Given the description of an element on the screen output the (x, y) to click on. 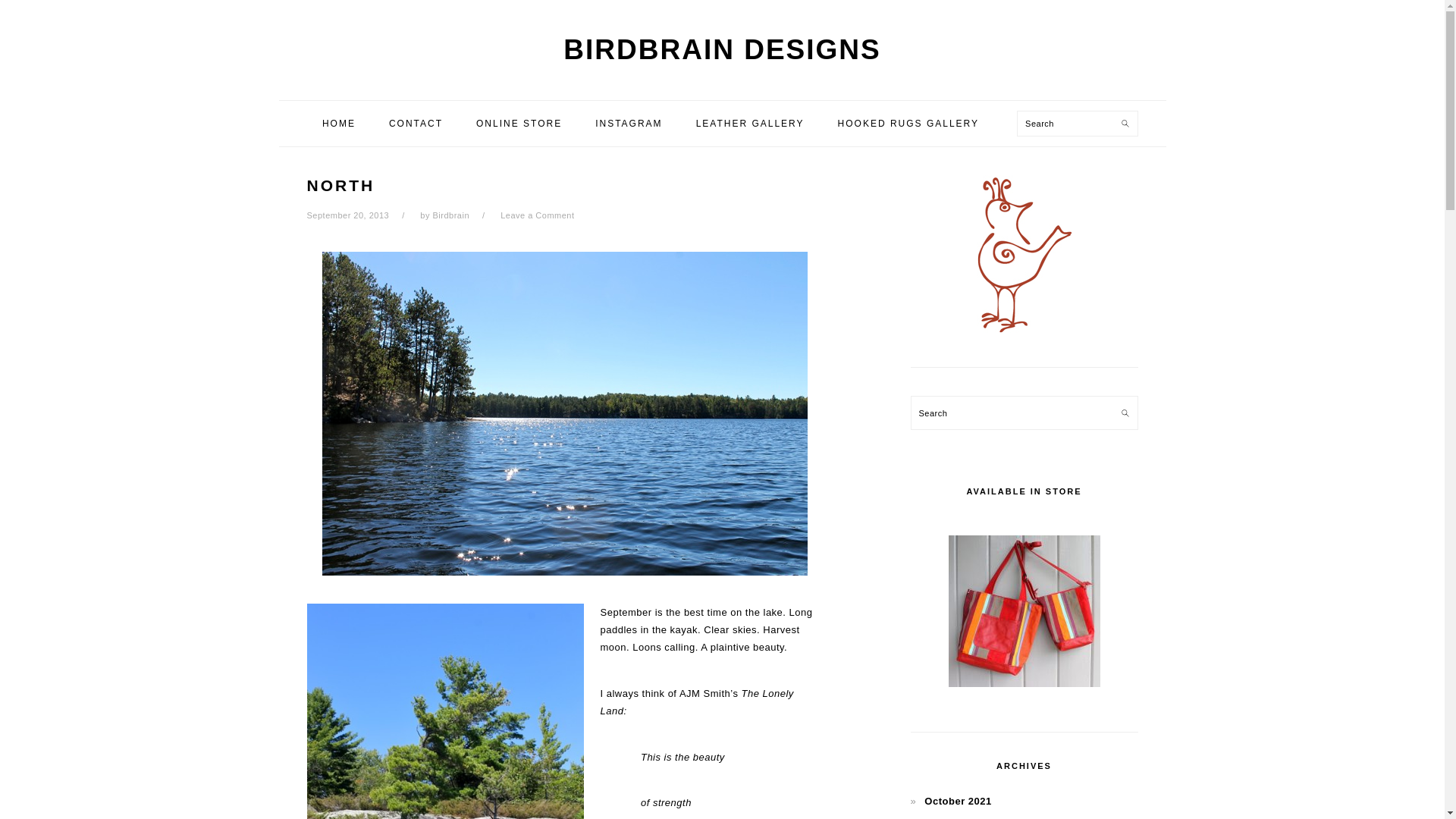
ONLINE STORE (519, 123)
HOME (338, 123)
CONTACT (415, 123)
LEATHER GALLERY (750, 123)
Leave a Comment (536, 215)
Birdbrain (450, 215)
BIRDBRAIN DESIGNS (721, 49)
HOOKED RUGS GALLERY (908, 123)
